Given the description of an element on the screen output the (x, y) to click on. 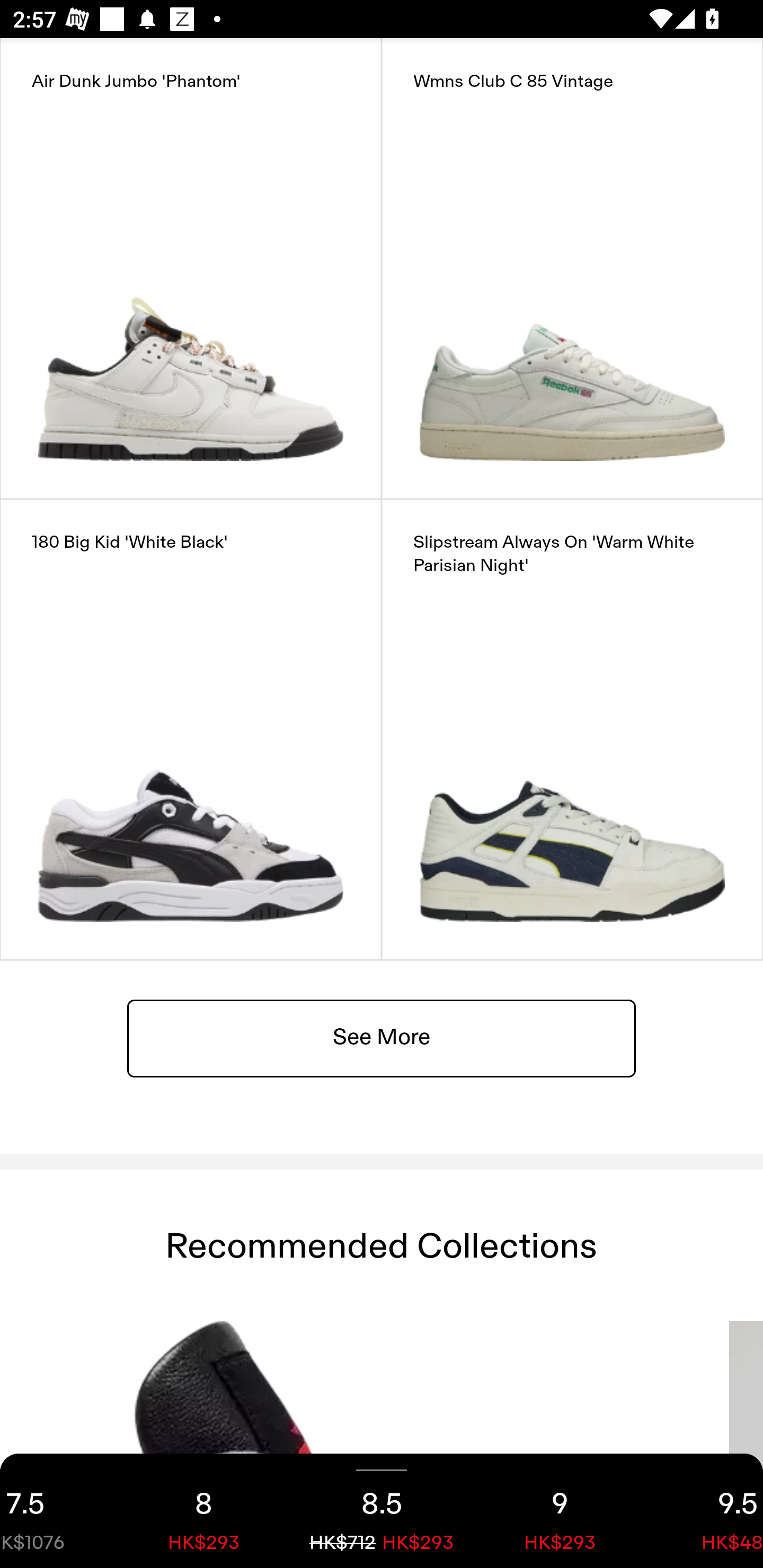
Air Dunk Jumbo 'Phantom' (190, 267)
Wmns Club C 85 Vintage (572, 267)
180 Big Kid 'White Black' (190, 728)
Slipstream Always On 'Warm White Parisian Night' (572, 728)
See More (381, 1037)
7.5 HK$1076 (57, 1510)
8 HK$293 (203, 1510)
8.5 HK$712 HK$293 (381, 1510)
9 HK$293 (559, 1510)
9.5 HK$483 (705, 1510)
